Given the description of an element on the screen output the (x, y) to click on. 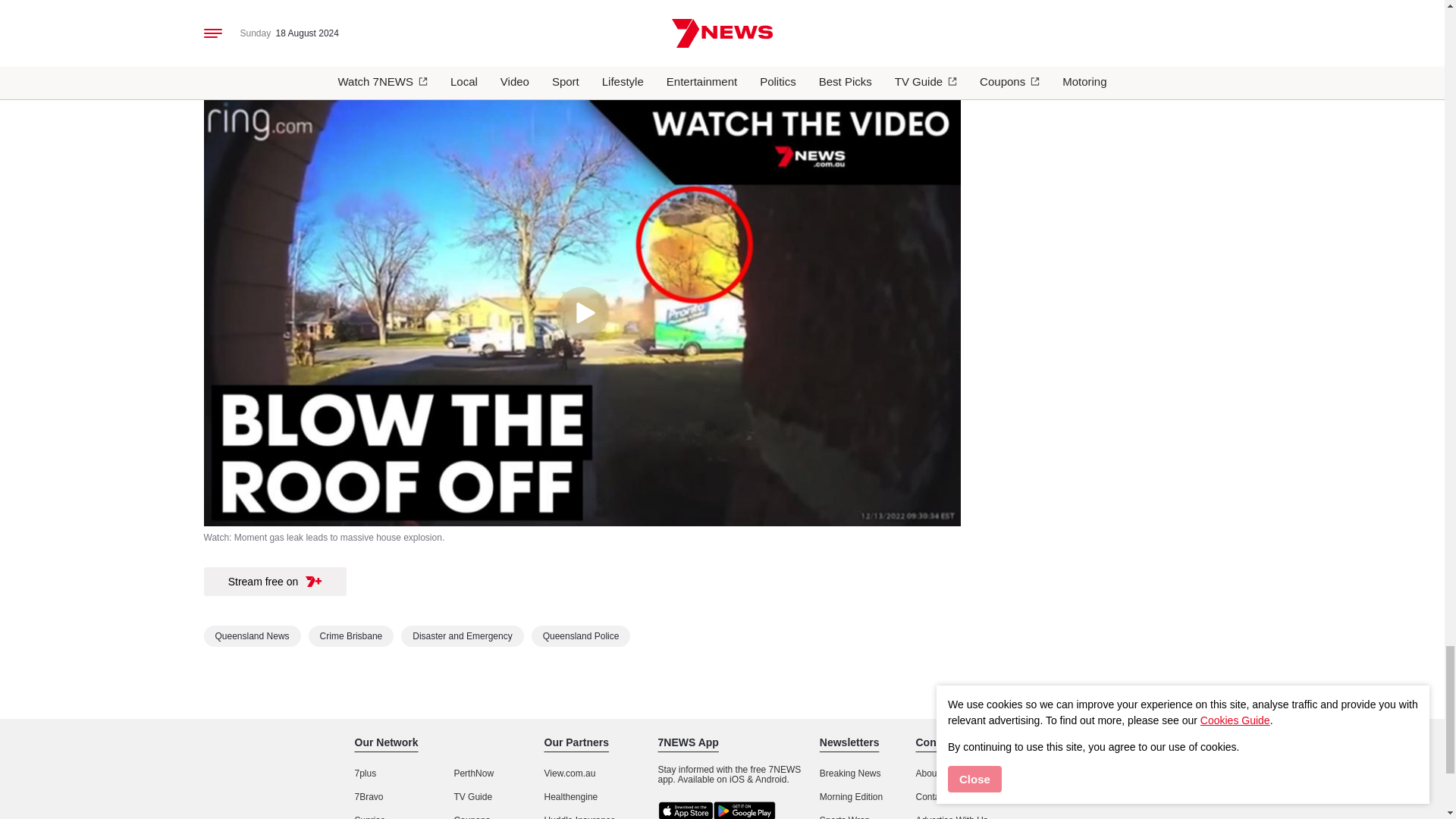
Video (882, 34)
Video (498, 34)
Play Video (581, 312)
